Given the description of an element on the screen output the (x, y) to click on. 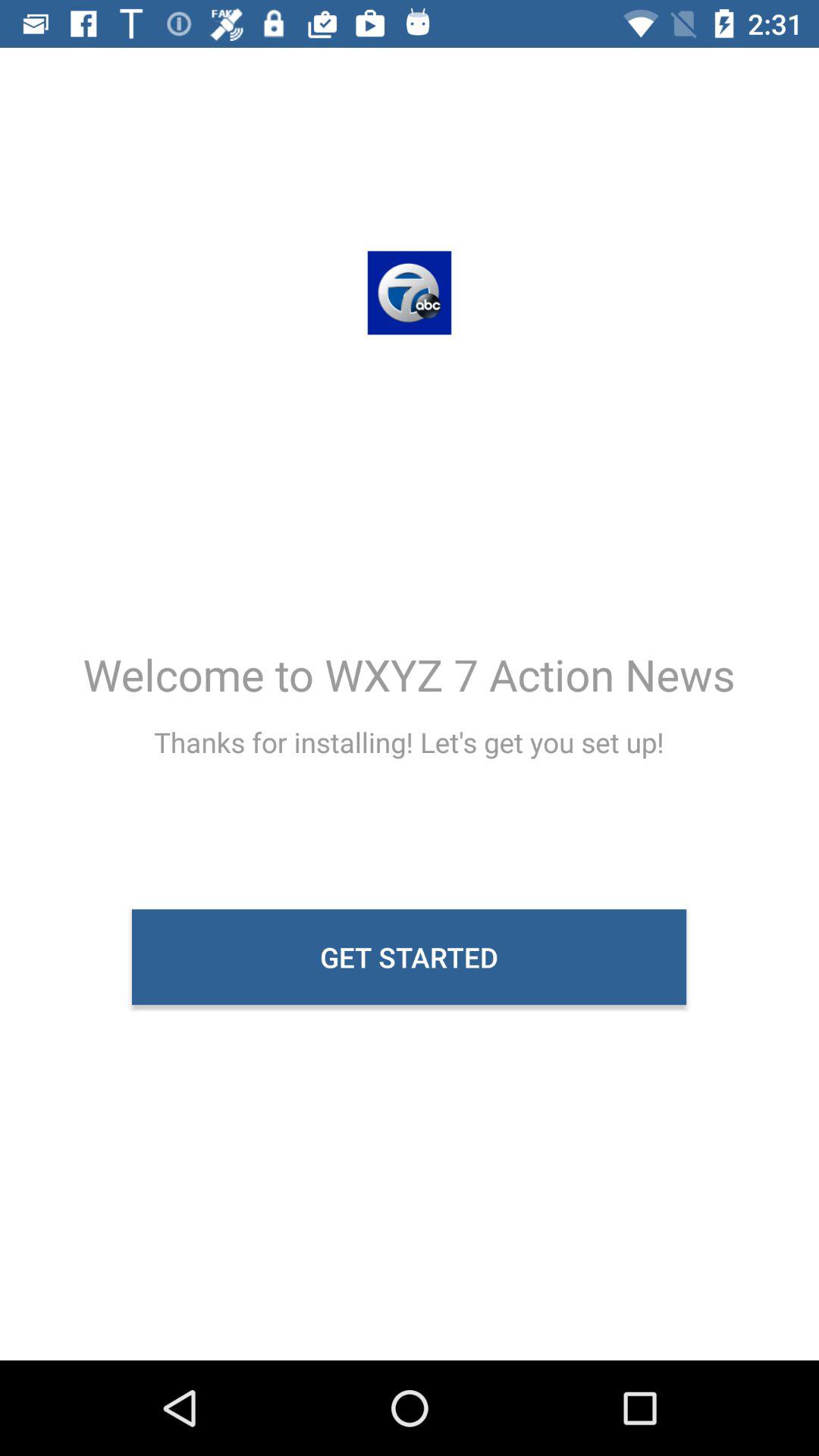
click get started (408, 956)
